Given the description of an element on the screen output the (x, y) to click on. 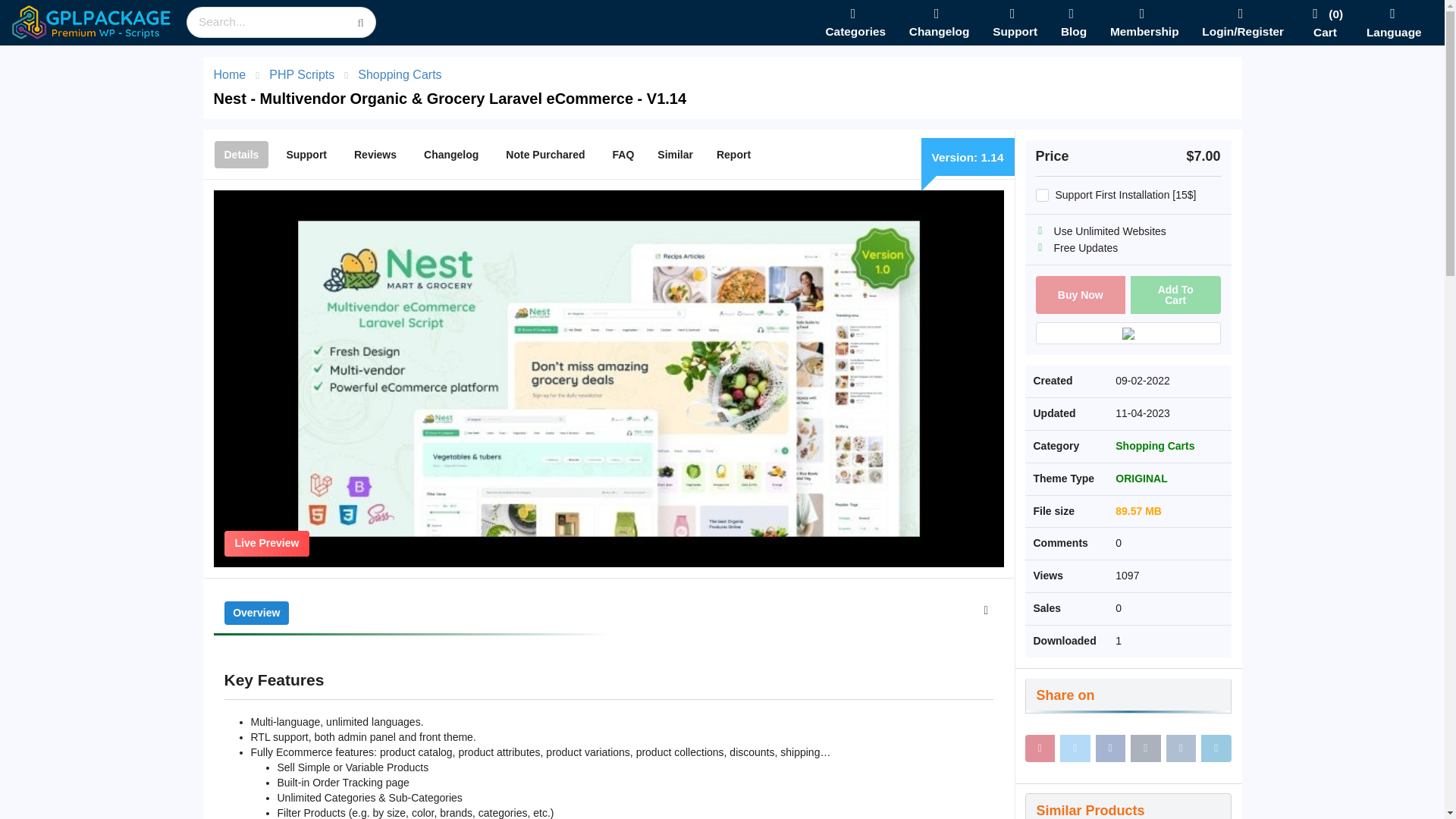
Similar (675, 154)
Support (1014, 22)
Changelog (450, 154)
Changelog (939, 22)
Reviews (374, 154)
Categories (855, 22)
Shopping Carts (399, 74)
Support (306, 154)
Support (1014, 22)
Home (230, 74)
